Given the description of an element on the screen output the (x, y) to click on. 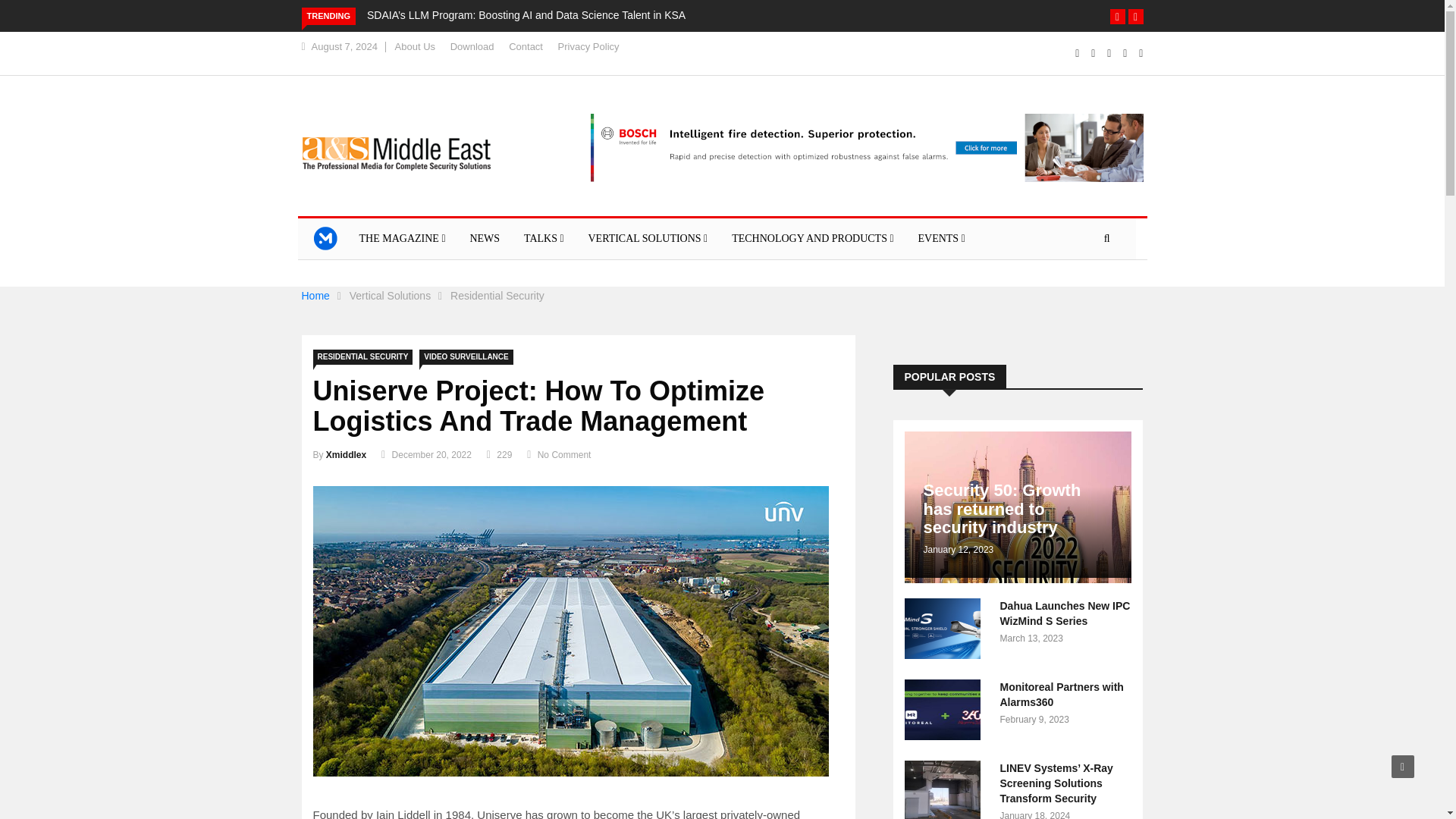
NEWS (484, 238)
Dahua Launches New IPC WizMind S Series (1063, 613)
logo (396, 153)
THE MAGAZINE (403, 238)
Monitoreal Partners with Alarms360 (945, 712)
Privacy Policy (588, 46)
About Us (414, 46)
Contact (525, 46)
TALKS (544, 238)
Download (472, 46)
